Given the description of an element on the screen output the (x, y) to click on. 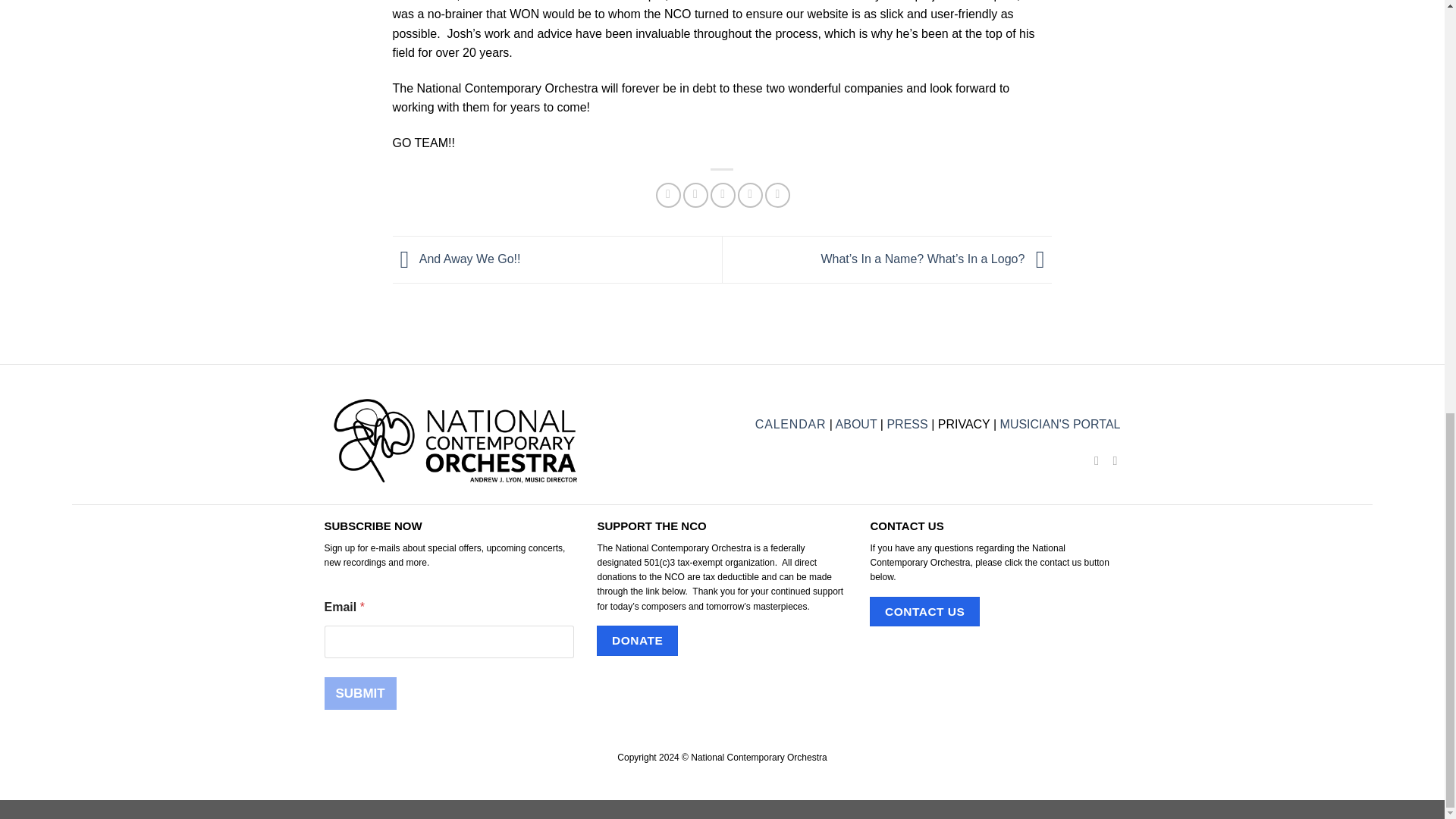
Follow on Instagram (1110, 459)
SUBMIT (360, 693)
DONATE (636, 640)
CONTACT US (923, 611)
MUSICIAN'S PORTAL (1060, 423)
PRESS (906, 423)
Share on Twitter (694, 195)
CALENDAR (791, 423)
Follow on Facebook (1092, 459)
Share on Facebook (668, 195)
